Given the description of an element on the screen output the (x, y) to click on. 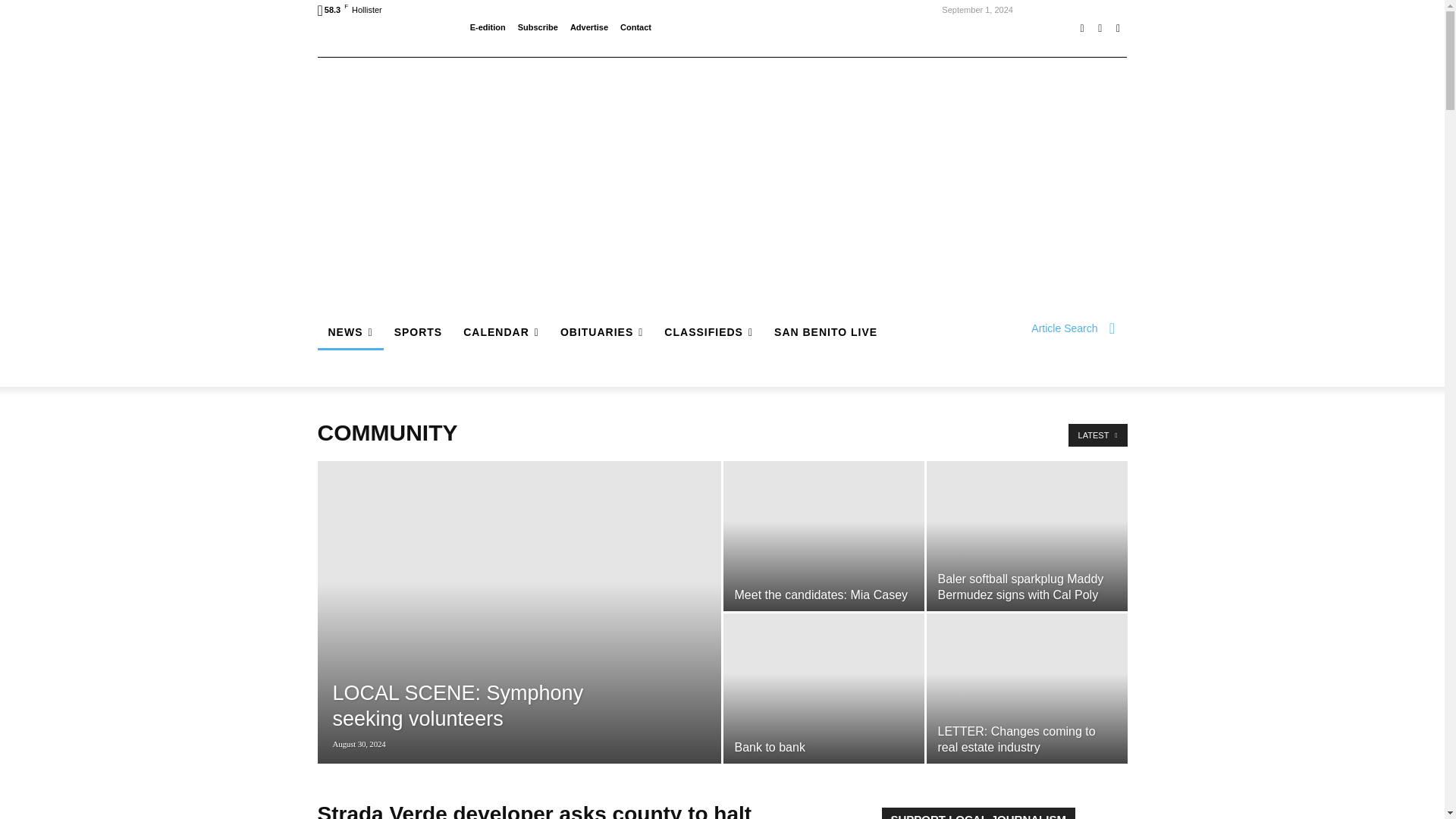
Twitter (1117, 28)
E-edition (487, 27)
Contact (635, 27)
Meet the candidates: Mia Casey (820, 594)
Advertise (589, 27)
NEWS (349, 331)
Meet the candidates: Mia Casey (823, 535)
Instagram (1099, 28)
Baler softball sparkplug Maddy Bermudez signs with Cal Poly (1026, 535)
